Given the description of an element on the screen output the (x, y) to click on. 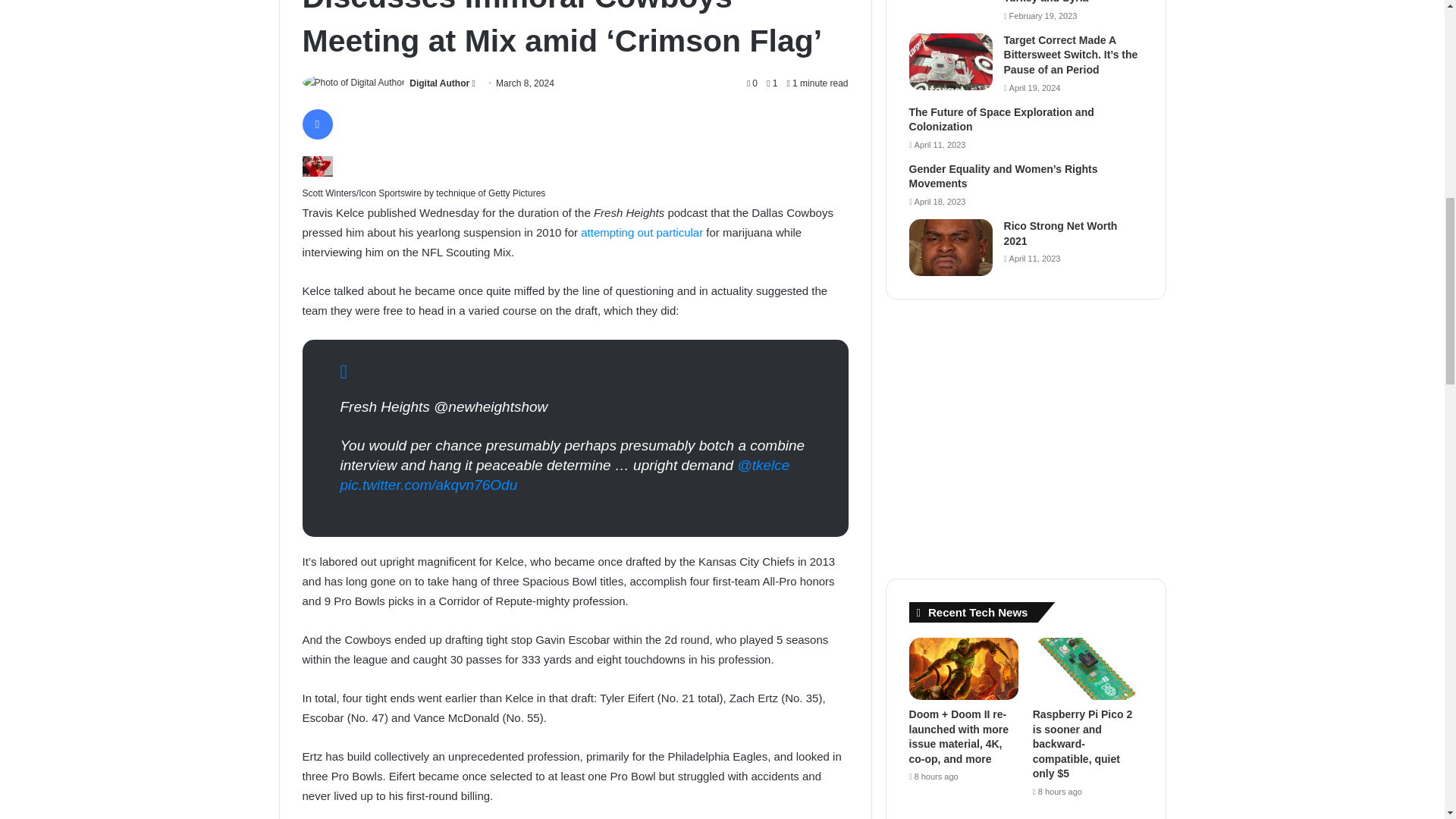
Digital Author (438, 82)
attempting out particular (641, 232)
Facebook (316, 123)
Facebook (316, 123)
Digital Author (438, 82)
